Given the description of an element on the screen output the (x, y) to click on. 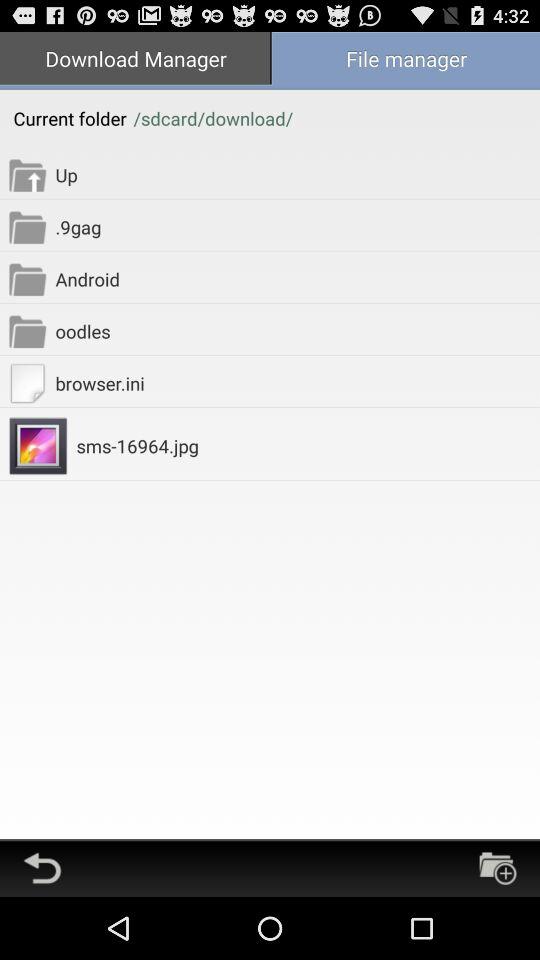
tap item above current folder item (135, 60)
